Given the description of an element on the screen output the (x, y) to click on. 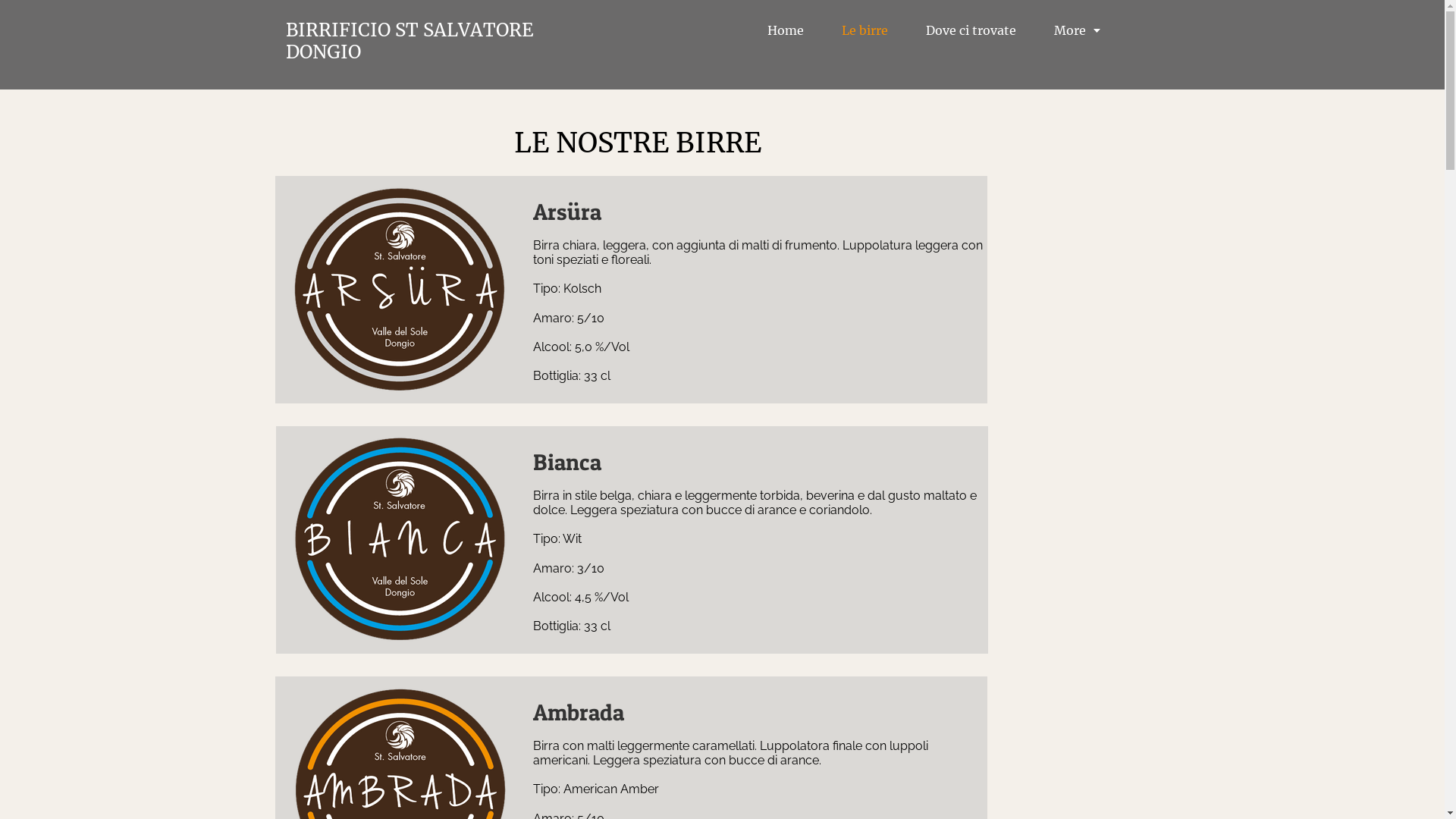
Dove ci trovate Element type: text (970, 30)
Home Element type: text (785, 30)
Le birre Element type: text (864, 30)
More Element type: text (1077, 30)
BIRRIFICIO ST SALVATORE Element type: text (409, 29)
